Given the description of an element on the screen output the (x, y) to click on. 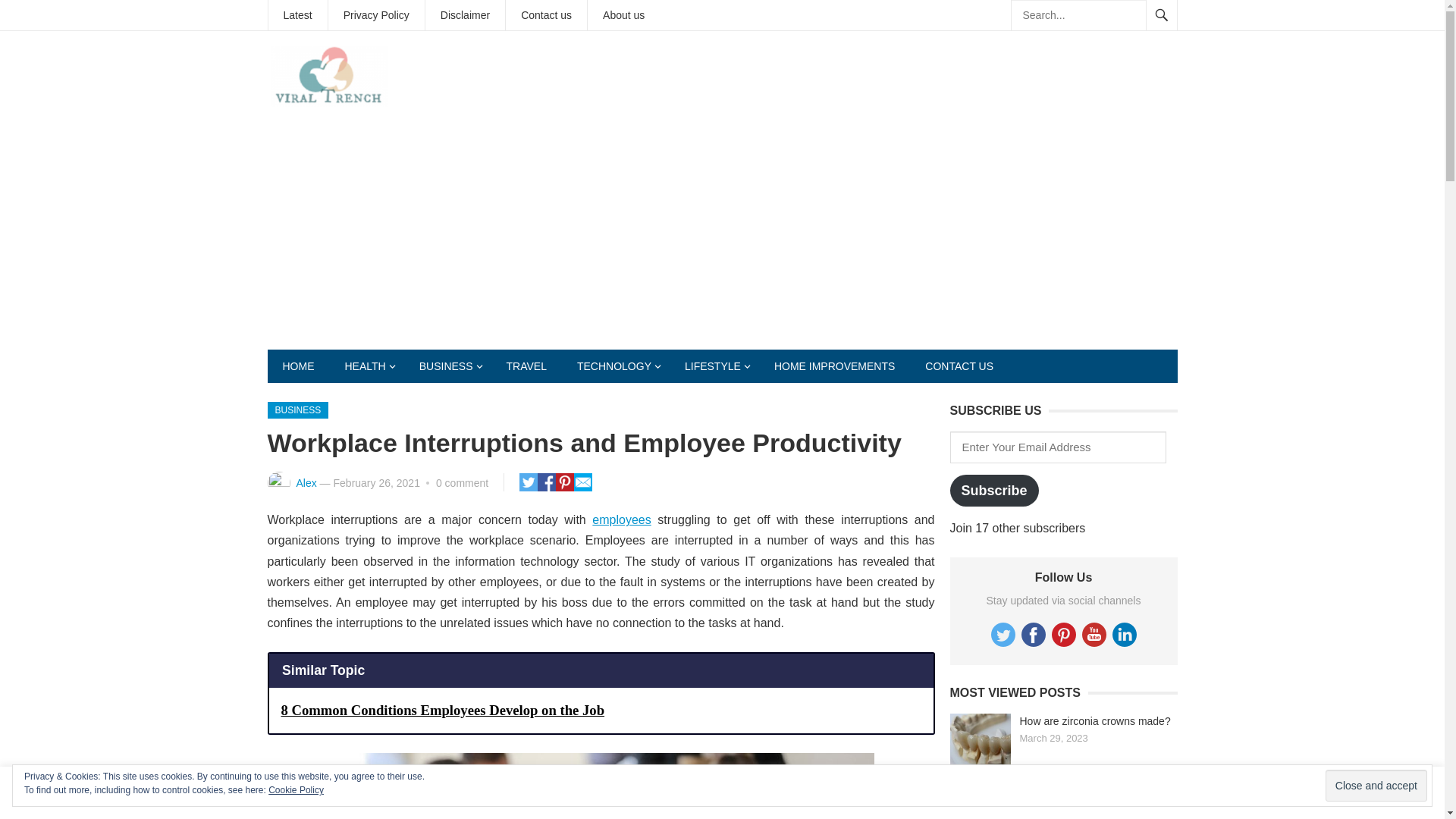
Close and accept (1375, 785)
HEALTH (366, 366)
View all posts in Business (297, 410)
About us (623, 15)
HOME (297, 366)
LIFESTYLE (713, 366)
CONTACT US (959, 366)
BUSINESS (448, 366)
Privacy Policy (377, 15)
TRAVEL (527, 366)
Latest (297, 15)
Contact us (545, 15)
Disclaimer (465, 15)
BUSINESS (297, 410)
TECHNOLOGY (615, 366)
